Given the description of an element on the screen output the (x, y) to click on. 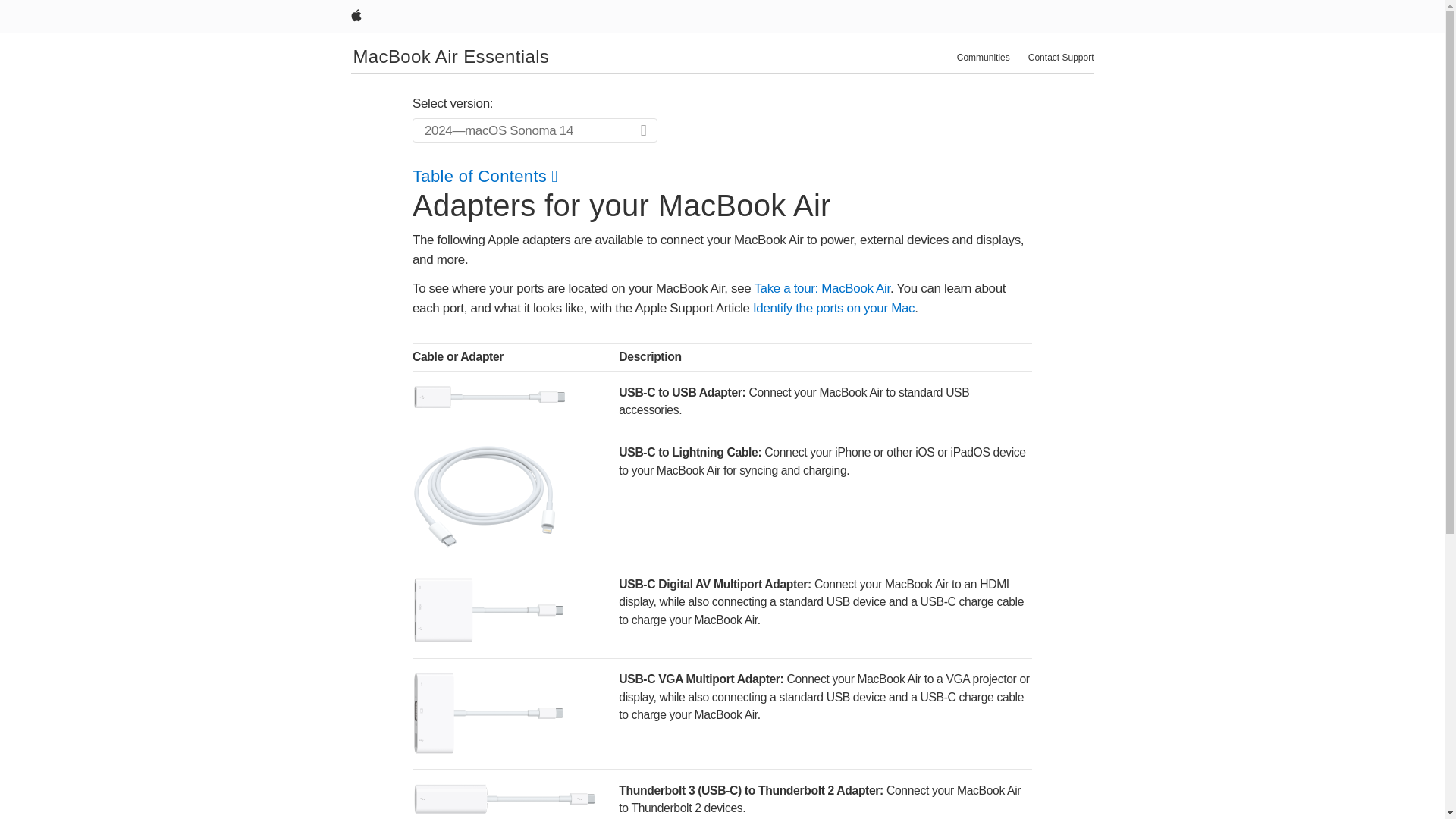
Identify the ports on your Mac (833, 308)
MacBook Air Essentials (451, 55)
Take a tour: MacBook Air (821, 288)
Communities (983, 57)
Contact Support (1060, 57)
Table of Contents (484, 176)
